Given the description of an element on the screen output the (x, y) to click on. 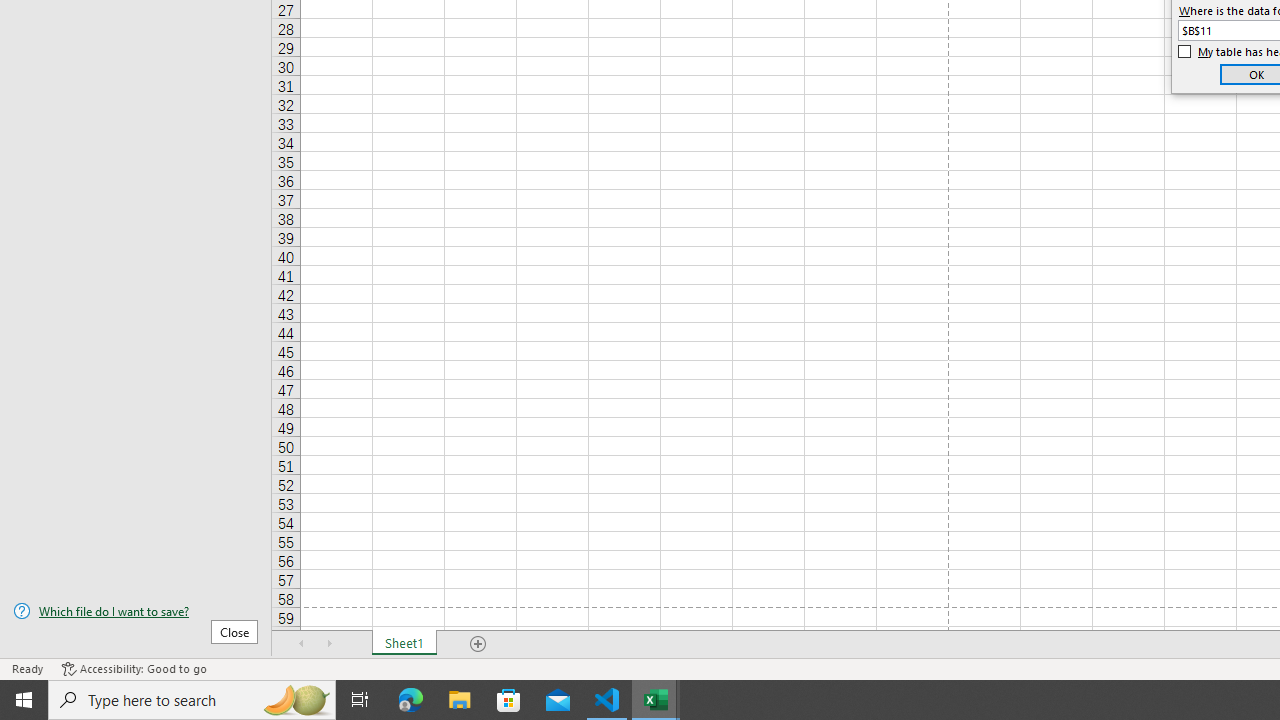
Which file do I want to save? (136, 611)
Sheet1 (404, 644)
Add Sheet (478, 644)
Accessibility Checker Accessibility: Good to go (134, 668)
Scroll Left (302, 644)
Scroll Right (330, 644)
